Given the description of an element on the screen output the (x, y) to click on. 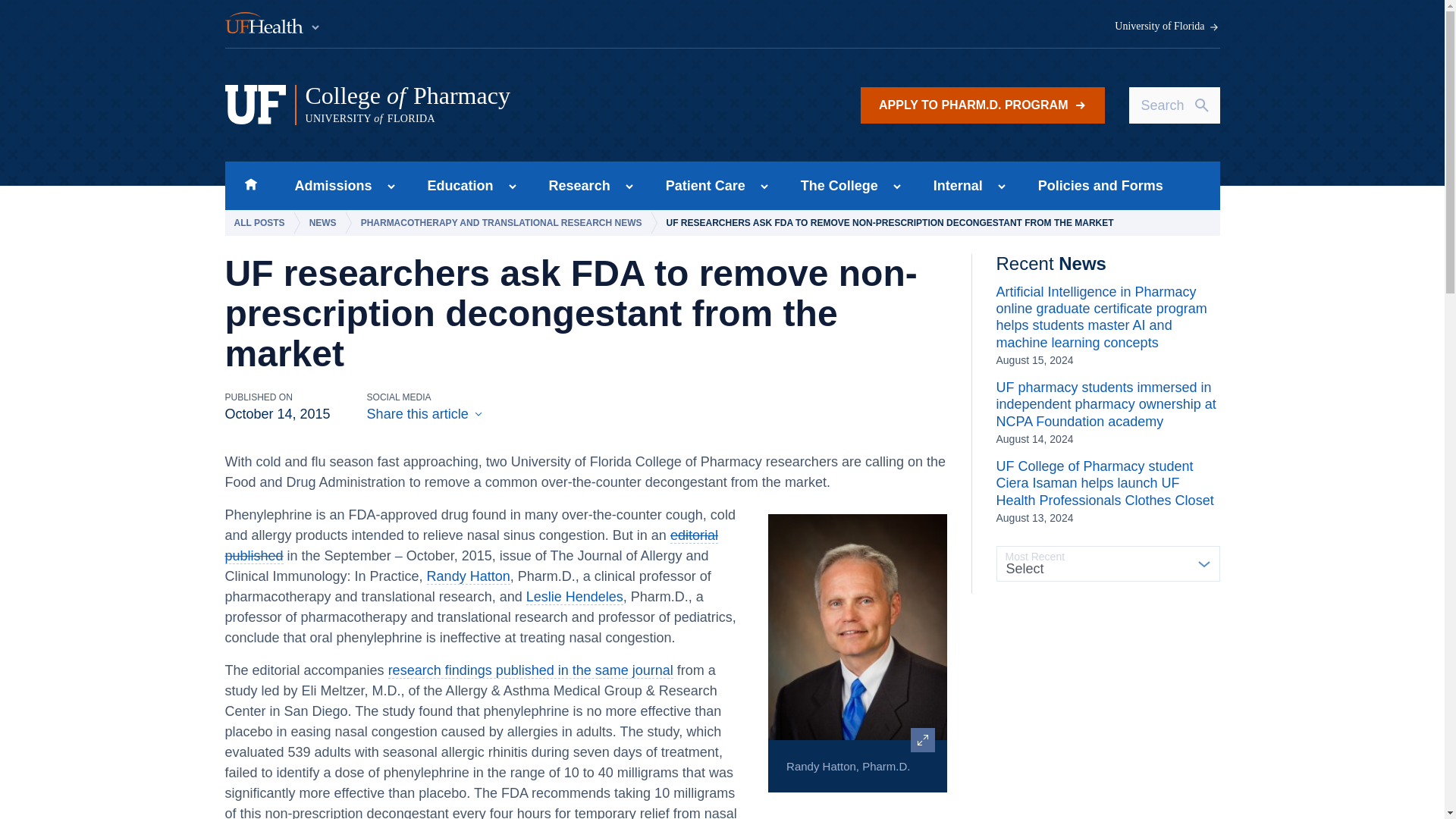
Research (575, 185)
Home (250, 185)
Education (515, 105)
APPLY TO PHARM.D. PROGRAM (455, 185)
University of Florida (982, 104)
Skip to main content (1167, 26)
